Given the description of an element on the screen output the (x, y) to click on. 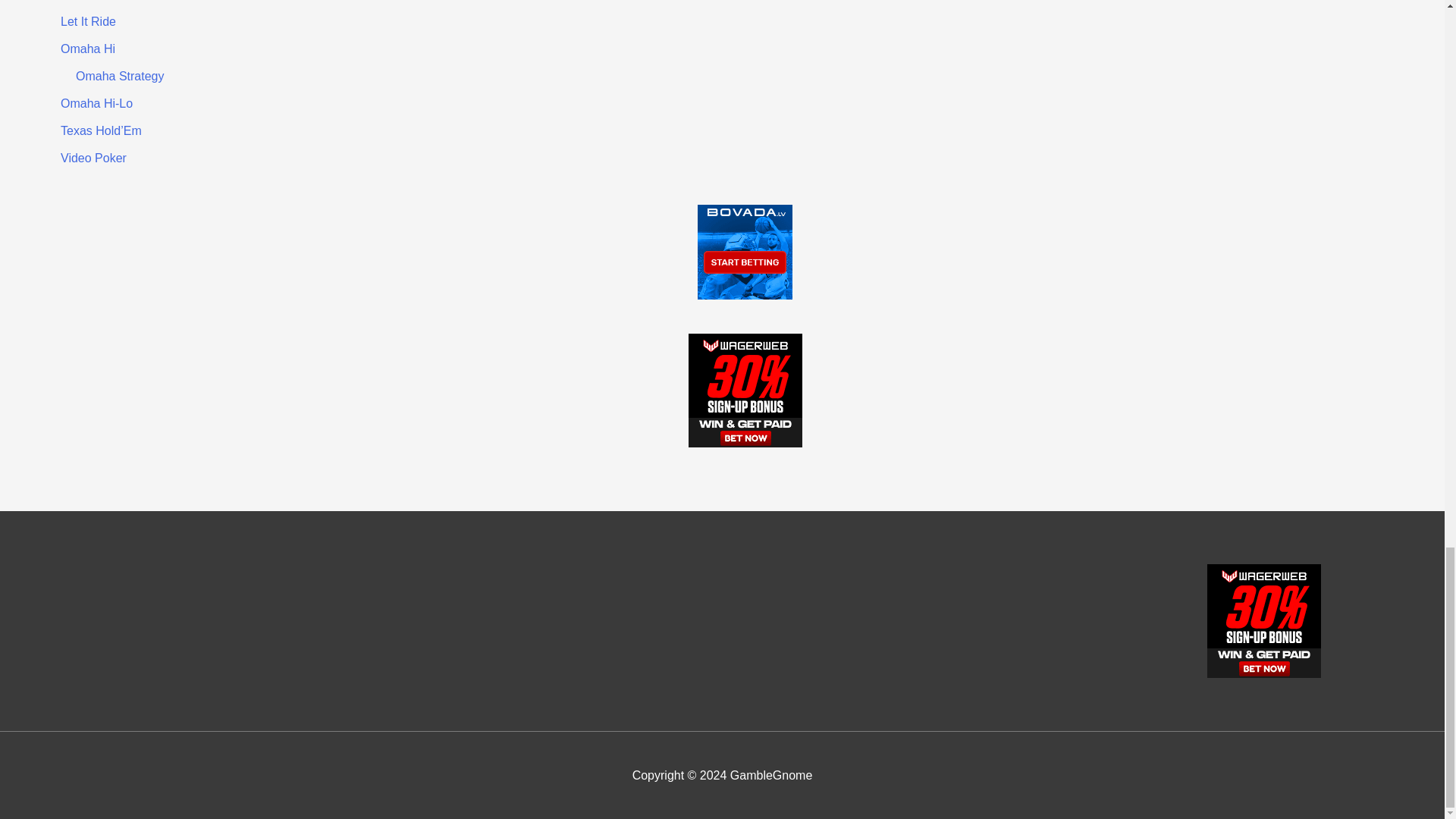
Let It Ride (88, 21)
Draw Poker (92, 0)
Omaha Hi (88, 48)
Omaha Strategy (119, 75)
Video Poker (93, 157)
Omaha Hi-Lo (96, 103)
